Given the description of an element on the screen output the (x, y) to click on. 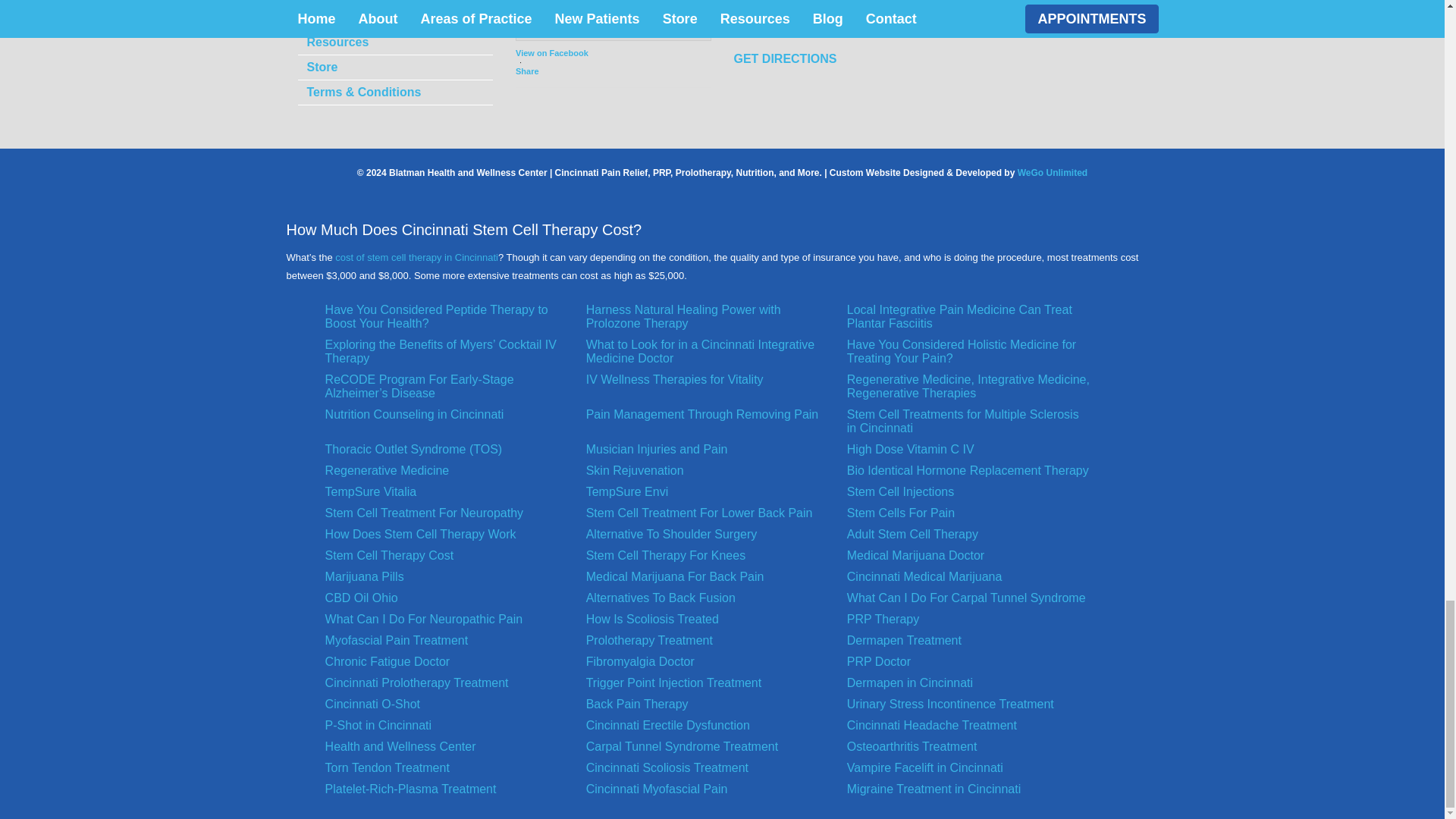
Local Integrative Pain Medicine Can Treat Plantar Fasciitis (968, 320)
View on Facebook (551, 52)
What to Look for in a Cincinnati Integrative Medicine Doctor (707, 355)
The Healing Power of Prolozone Therapy (707, 320)
Suffering from Pain? Turn to a Cincinnati Holistic Doctor (968, 355)
Share (551, 71)
